Given the description of an element on the screen output the (x, y) to click on. 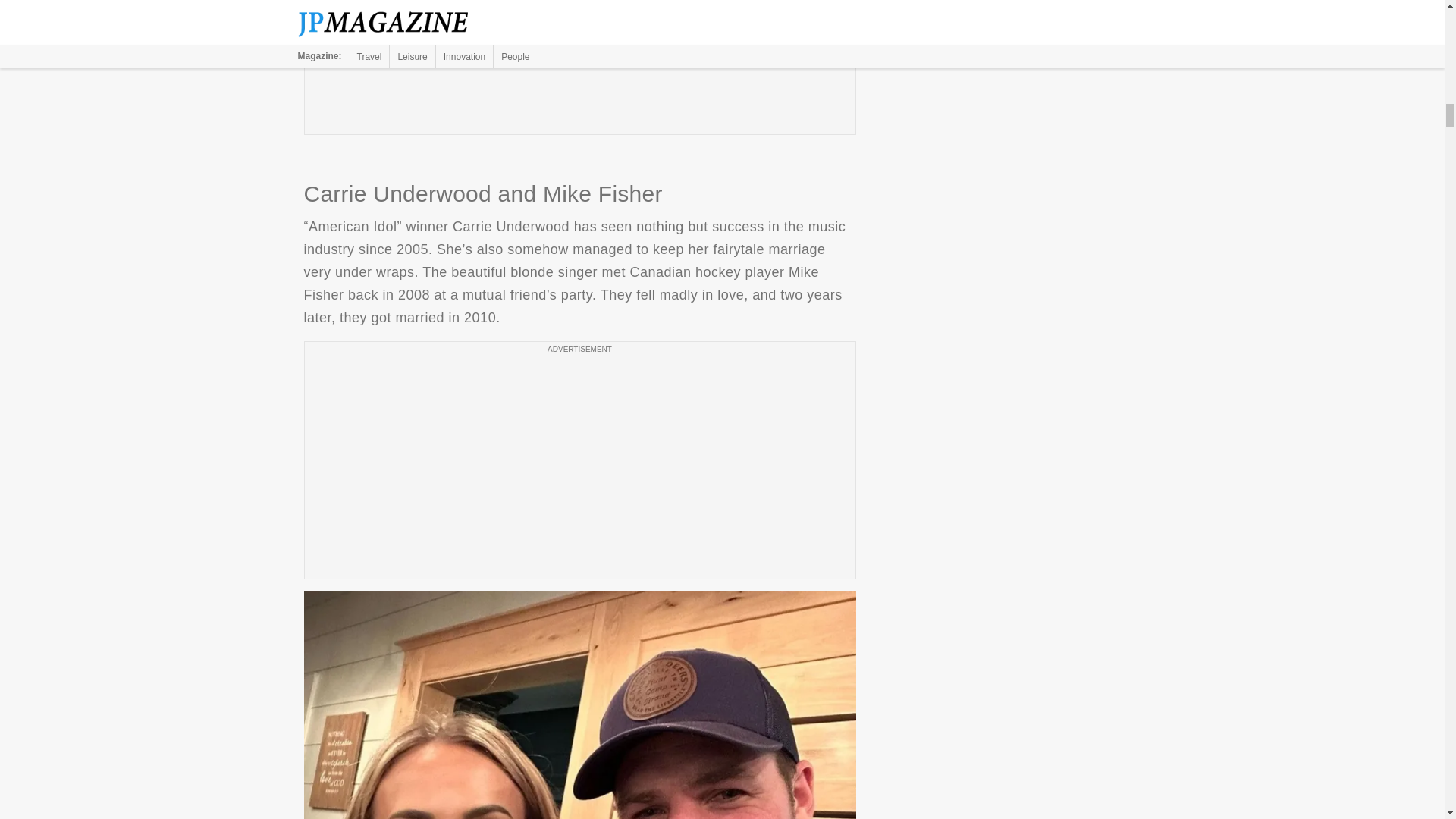
Carrie Underwood and Mike Fisher (579, 704)
